Given the description of an element on the screen output the (x, y) to click on. 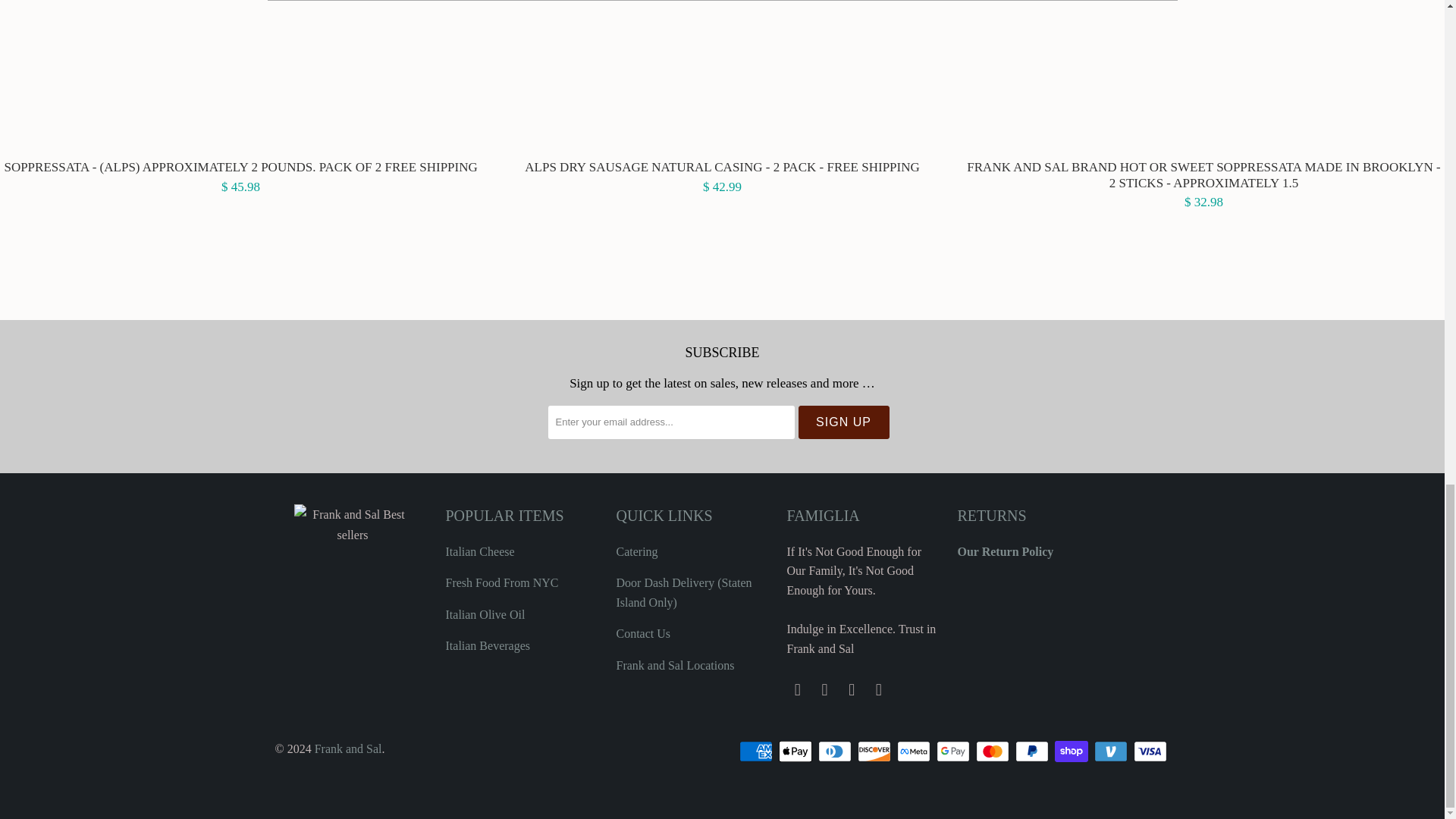
Mastercard (993, 751)
American Express (756, 751)
Google Pay (954, 751)
Shop Pay (1072, 751)
Sign Up (842, 421)
Discover (875, 751)
Venmo (1111, 751)
Diners Club (834, 751)
Meta Pay (914, 751)
PayPal (1032, 751)
